Given the description of an element on the screen output the (x, y) to click on. 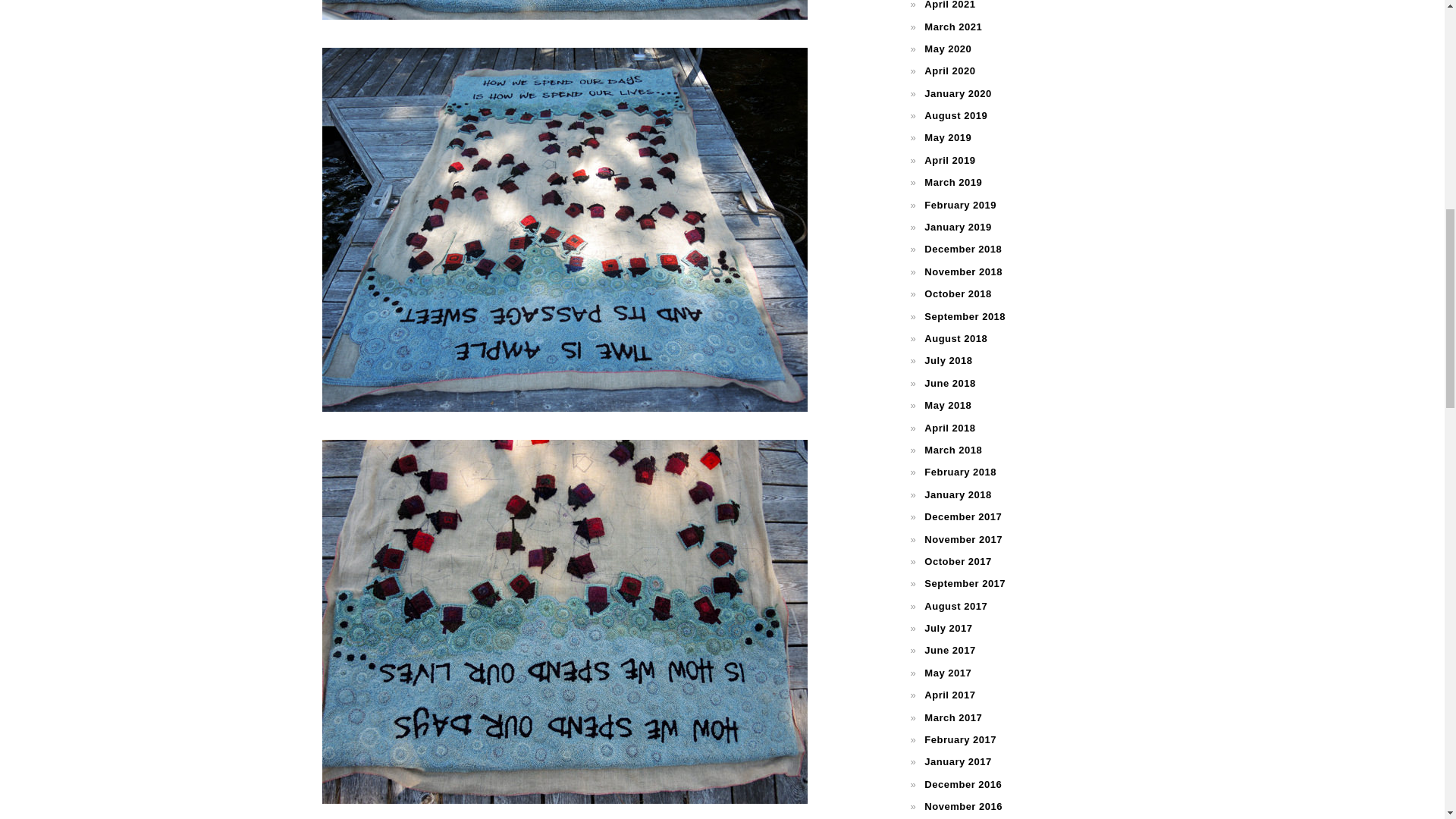
March 2021 (952, 26)
January 2020 (957, 93)
January 2019 (957, 226)
February 2019 (959, 204)
May 2020 (947, 48)
August 2019 (955, 115)
March 2019 (952, 182)
May 2019 (947, 137)
April 2021 (949, 4)
April 2020 (949, 70)
April 2019 (949, 160)
